Given the description of an element on the screen output the (x, y) to click on. 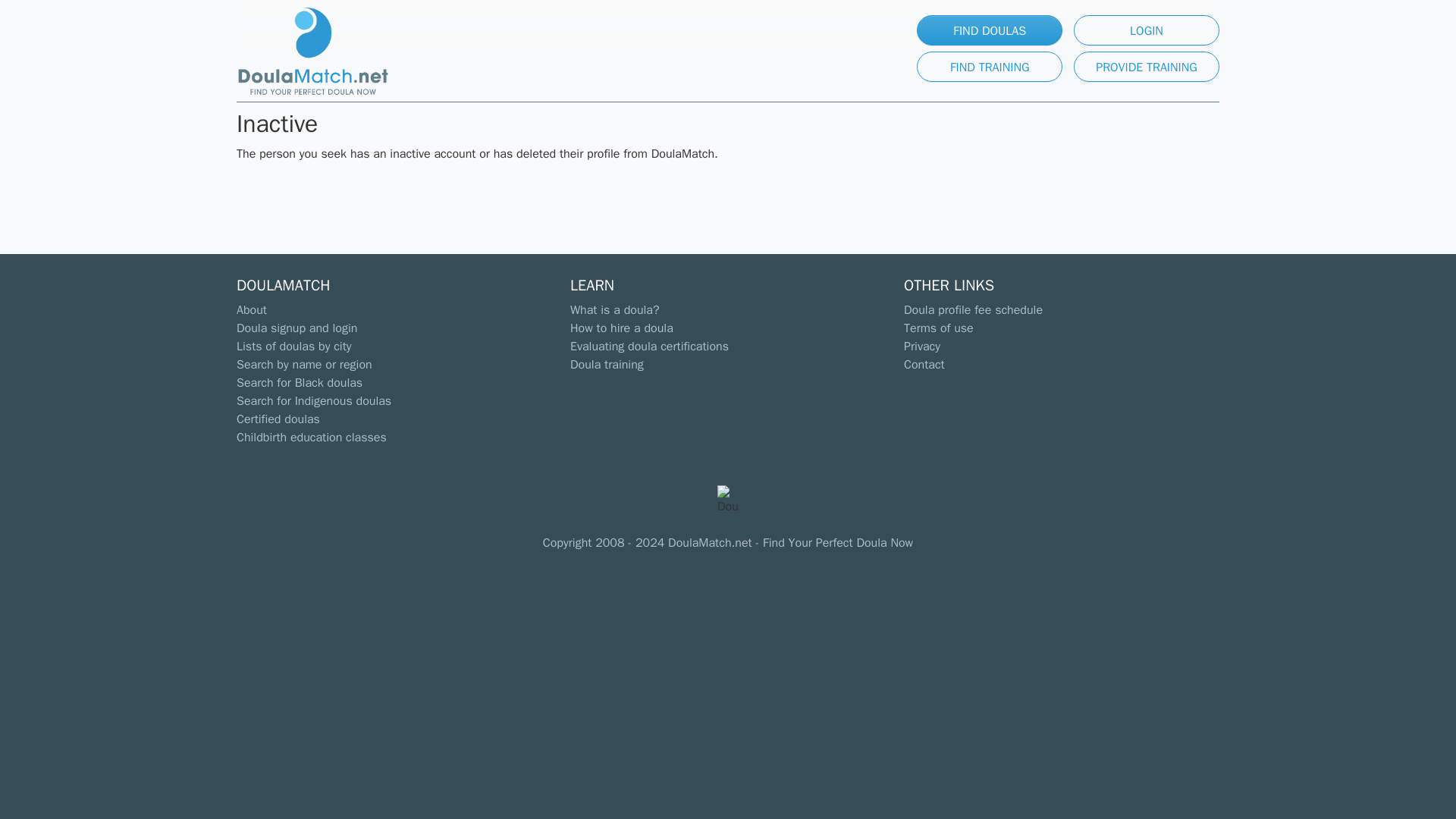
Terms of use (939, 328)
Lists of doulas by city (292, 346)
Doula profile fee schedule (973, 309)
Search by name or region (303, 364)
Search for Indigenous doulas (313, 400)
LOGIN (1147, 30)
Doula signup and login (295, 328)
Certified doulas (277, 418)
FIND DOULAS (989, 30)
Doula training (606, 364)
Contact (924, 364)
What is a doula? (614, 309)
FIND TRAINING (989, 66)
Privacy (922, 346)
Evaluating doula certifications (649, 346)
